Given the description of an element on the screen output the (x, y) to click on. 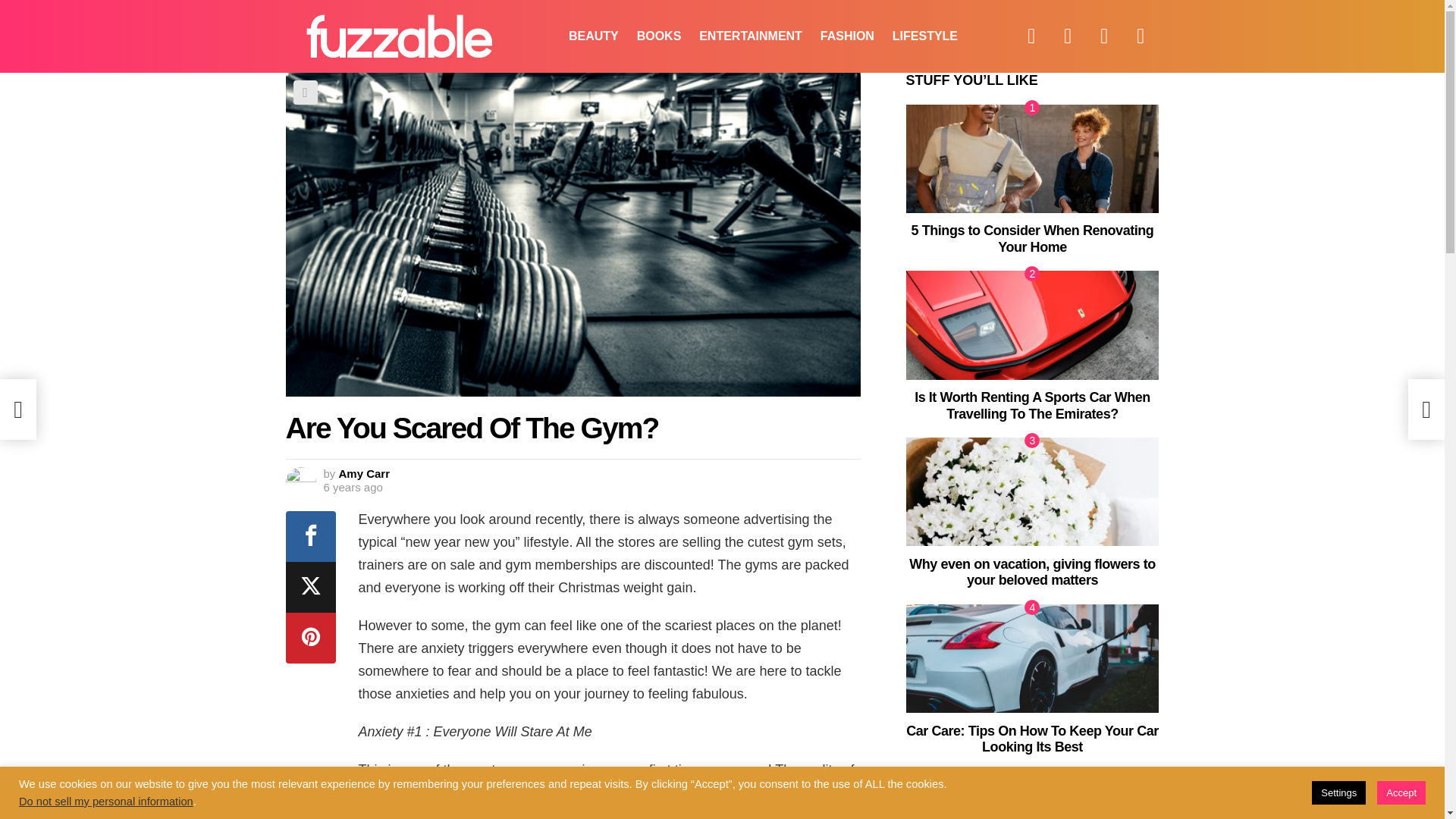
FASHION (847, 36)
Posts by Amy Carr (364, 472)
BEAUTY (593, 36)
LIFESTYLE (925, 36)
5 Things to Consider When Renovating Your Home (1032, 238)
ENTERTAINMENT (750, 36)
pinterest (1140, 36)
instagram (1104, 36)
Share (304, 92)
Car Care: Tips On How To Keep Your Car Looking Its Best (1031, 658)
